Given the description of an element on the screen output the (x, y) to click on. 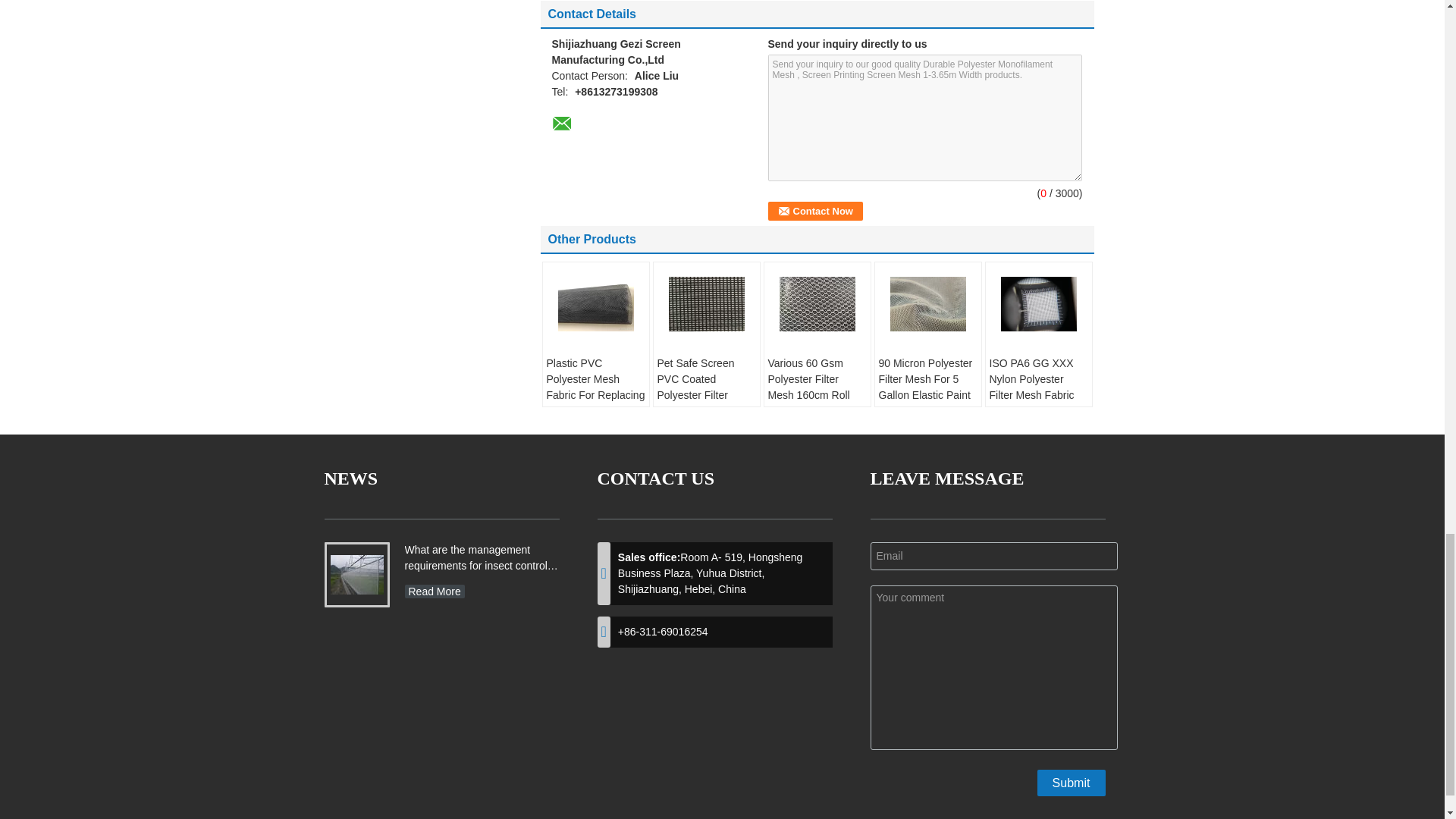
Contact Now (814, 210)
Submit (1070, 782)
